Given the description of an element on the screen output the (x, y) to click on. 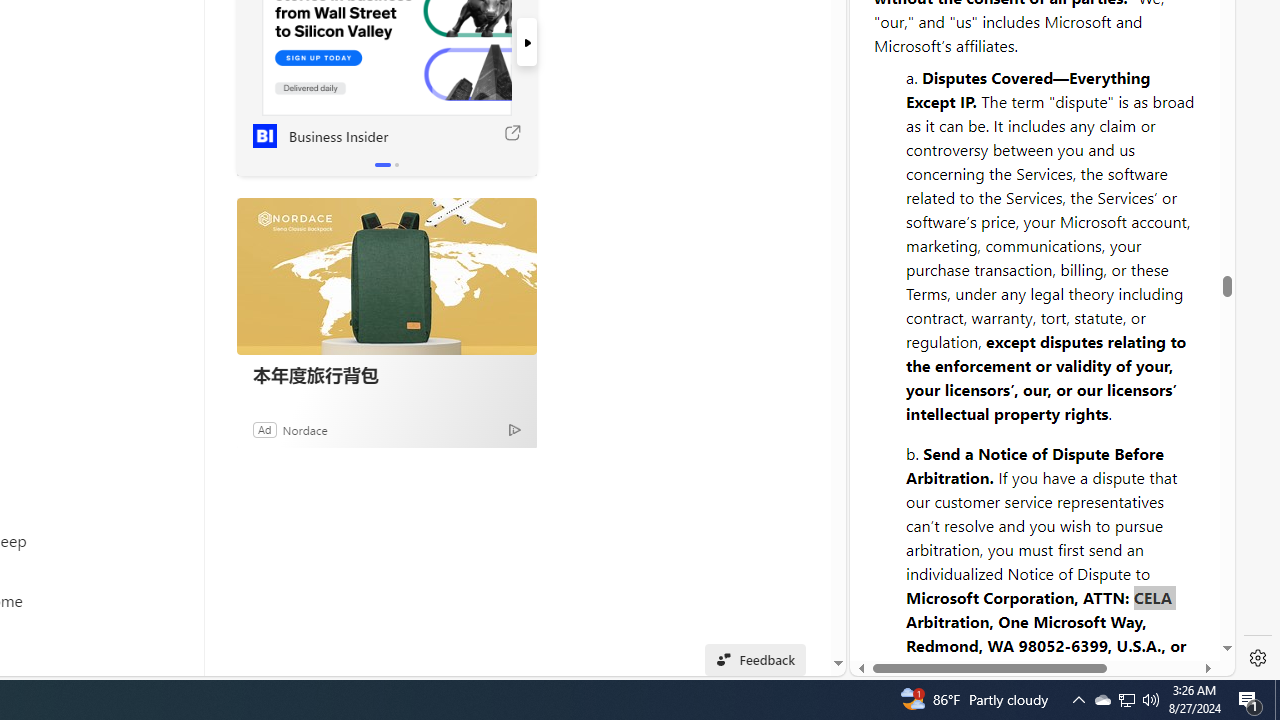
Ad (264, 429)
Legal (992, 611)
next (526, 42)
Advertise (1067, 611)
